Given the description of an element on the screen output the (x, y) to click on. 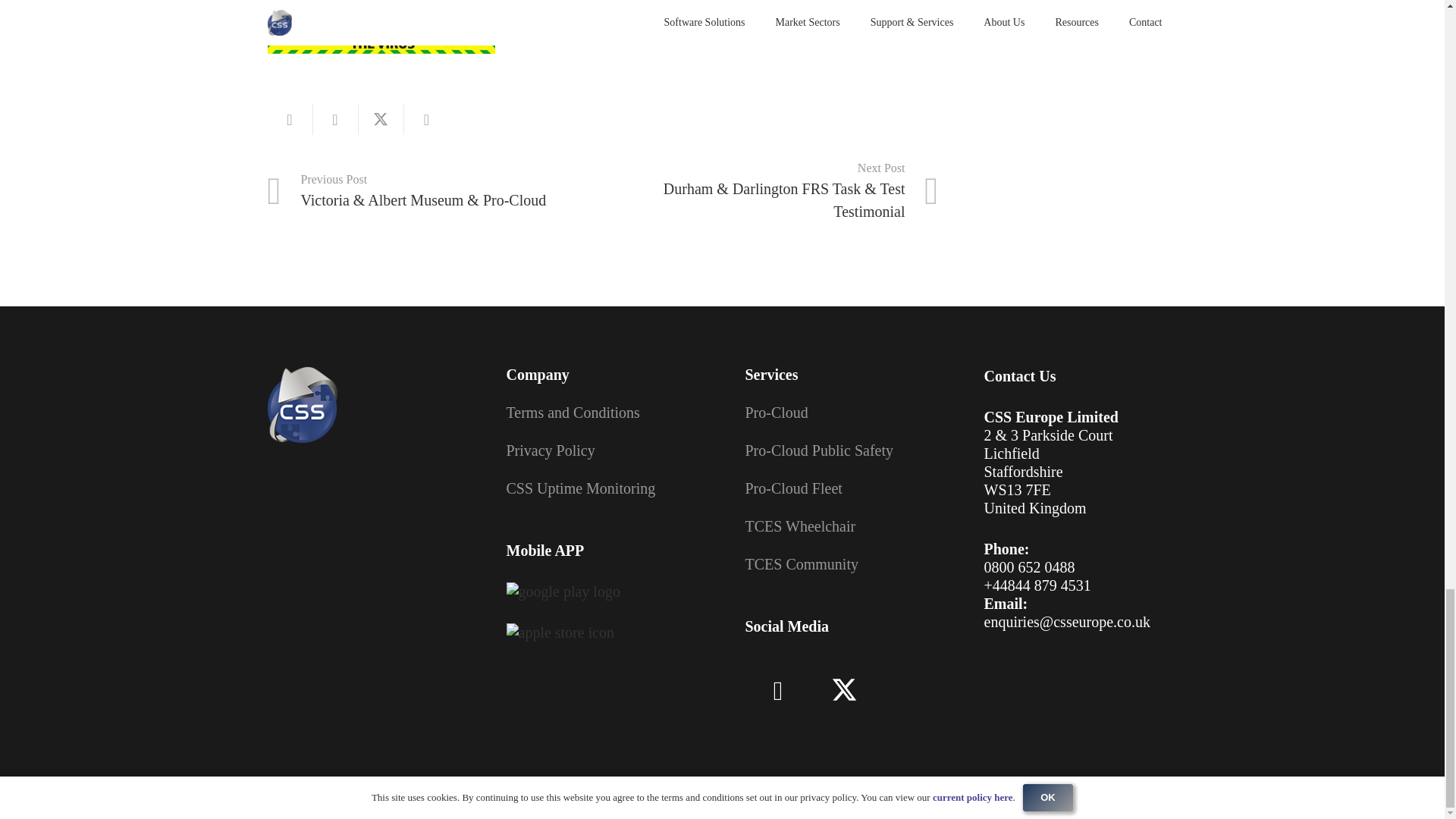
Tweet this (380, 119)
Share this (425, 119)
Twitter (843, 691)
LinkedIn (777, 691)
Share this (335, 119)
Email this (289, 119)
